Given the description of an element on the screen output the (x, y) to click on. 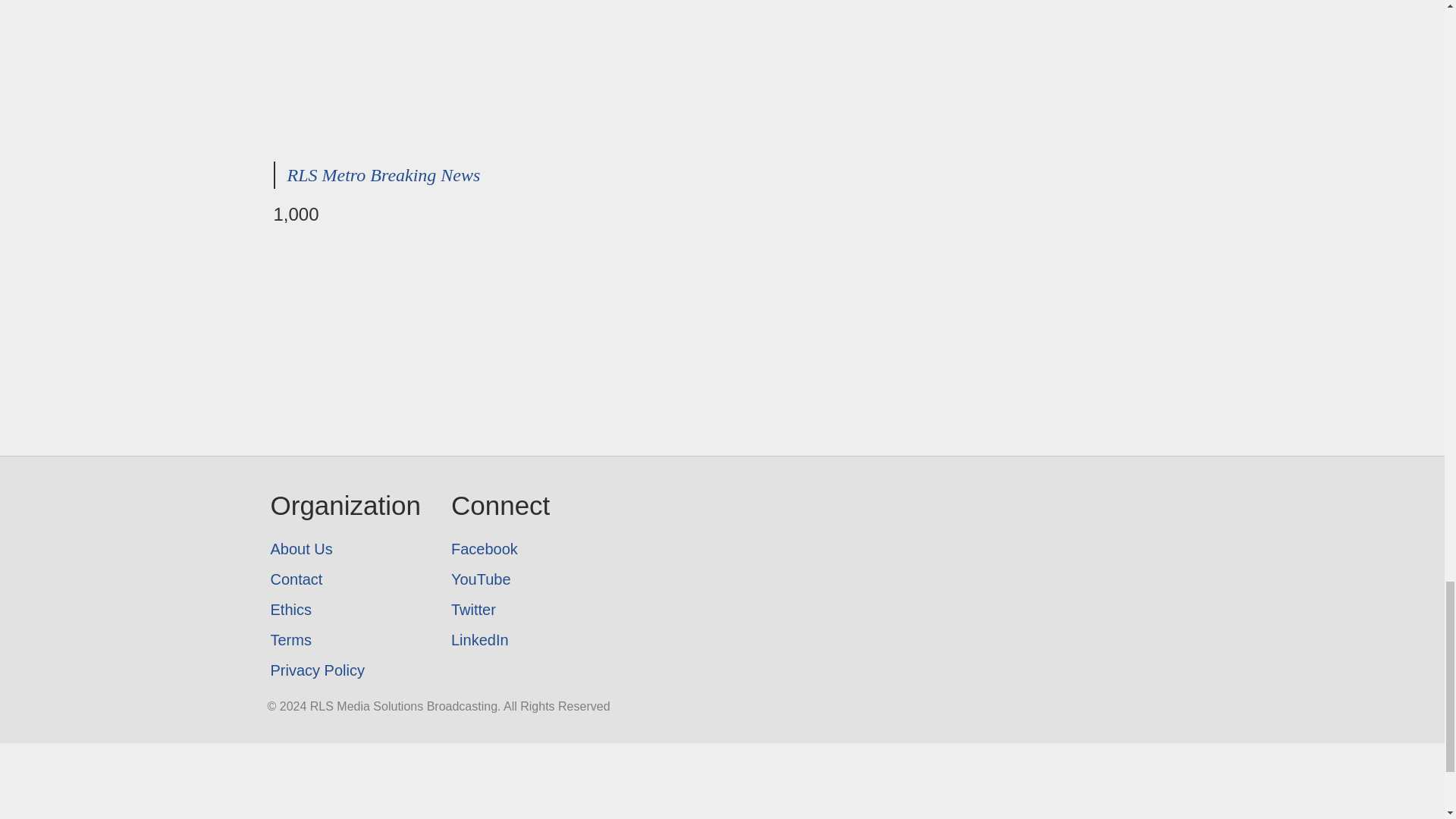
Terms (344, 639)
About Us (344, 548)
Contact (344, 579)
Contact Us (344, 579)
Ethics Code (344, 609)
Ethics (344, 609)
Facebook (500, 548)
YouTube (500, 579)
LinkedIn (500, 639)
Advertisement (721, 74)
Twitter (500, 609)
Privacy Policy (344, 670)
RLS Metro Breaking News (383, 175)
